Given the description of an element on the screen output the (x, y) to click on. 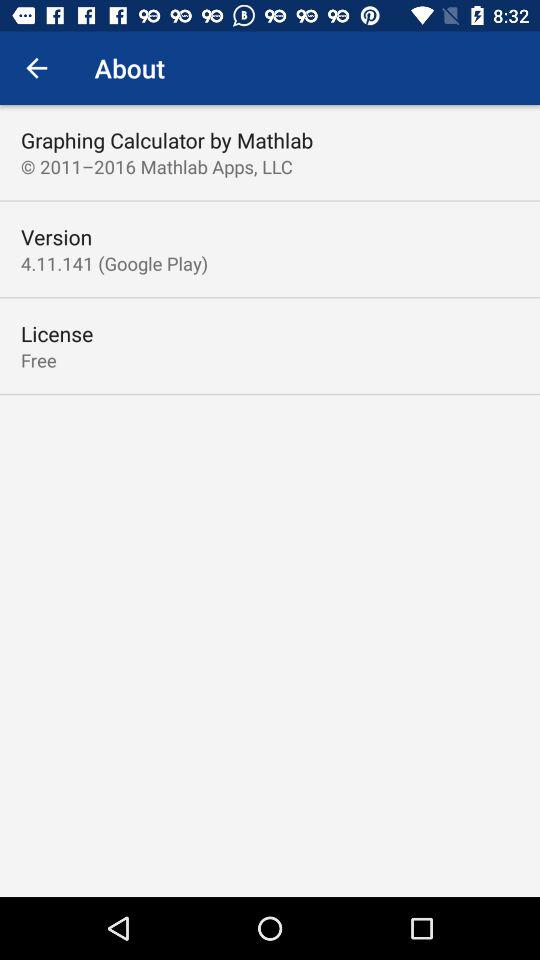
jump until graphing calculator by item (167, 139)
